Given the description of an element on the screen output the (x, y) to click on. 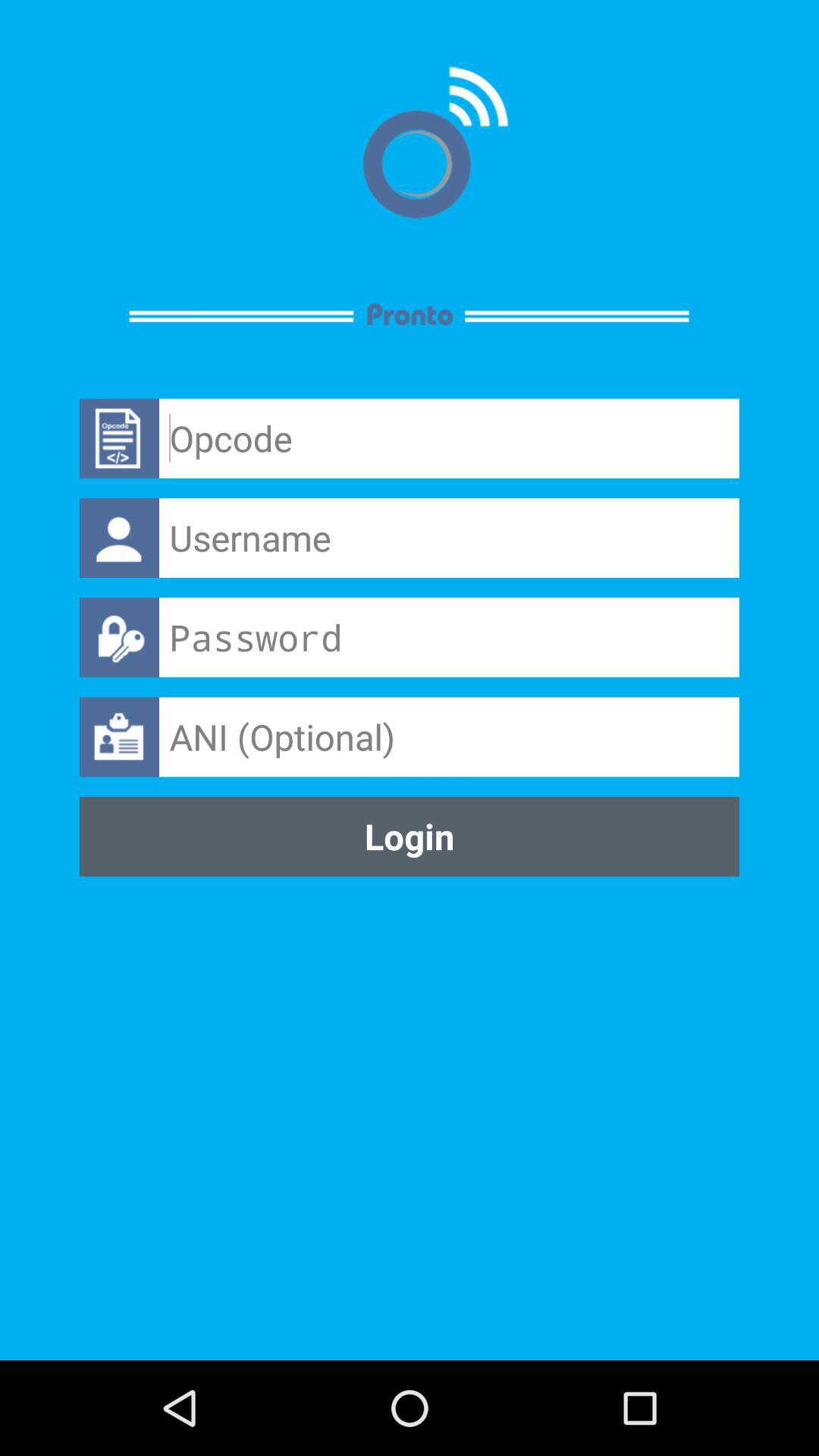
add ani info (449, 736)
